Given the description of an element on the screen output the (x, y) to click on. 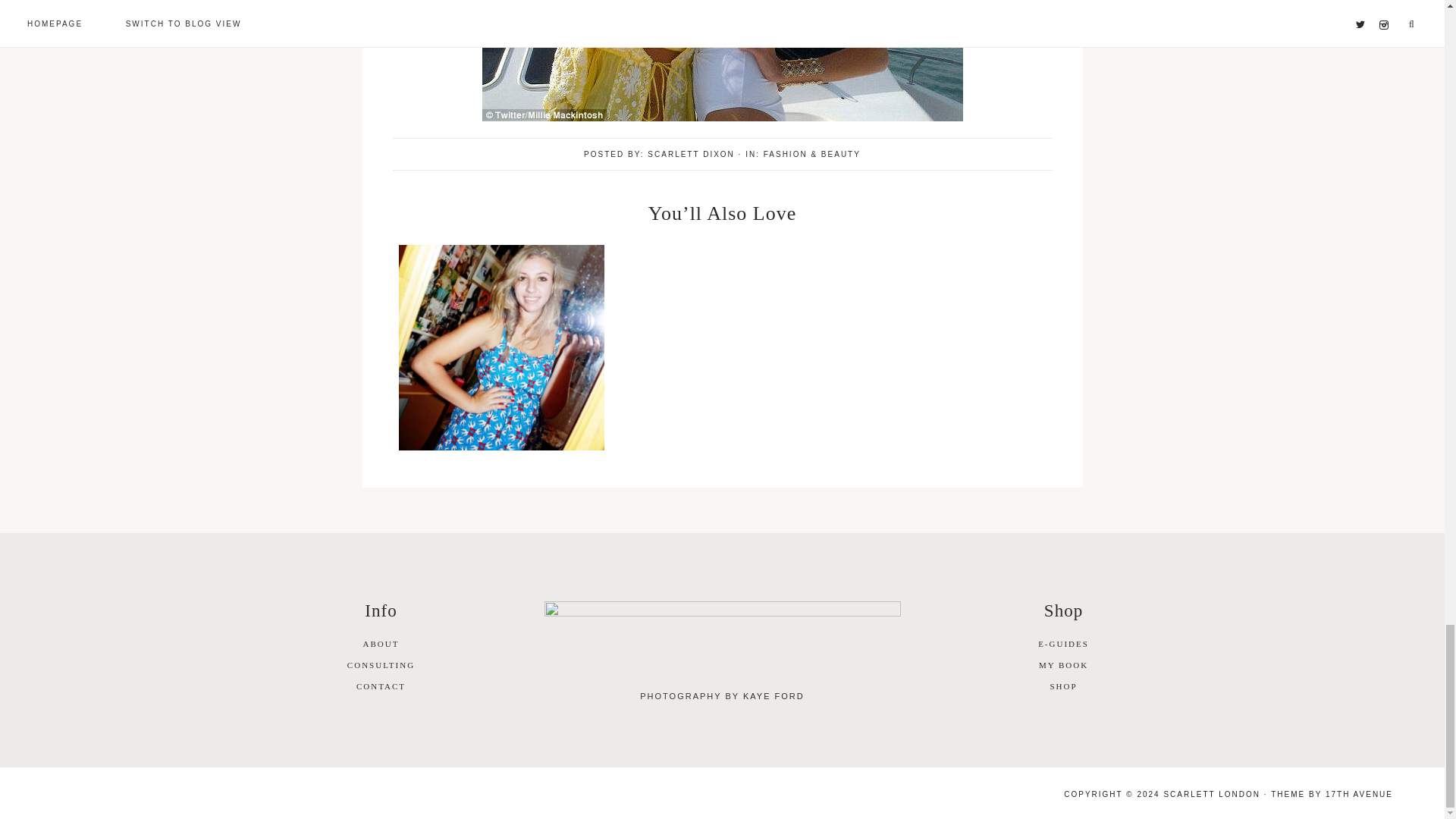
CONSULTING (380, 664)
ABOUT (380, 643)
SCARLETT DIXON (691, 153)
Permanent Link to Saturday 6th August (501, 446)
